Given the description of an element on the screen output the (x, y) to click on. 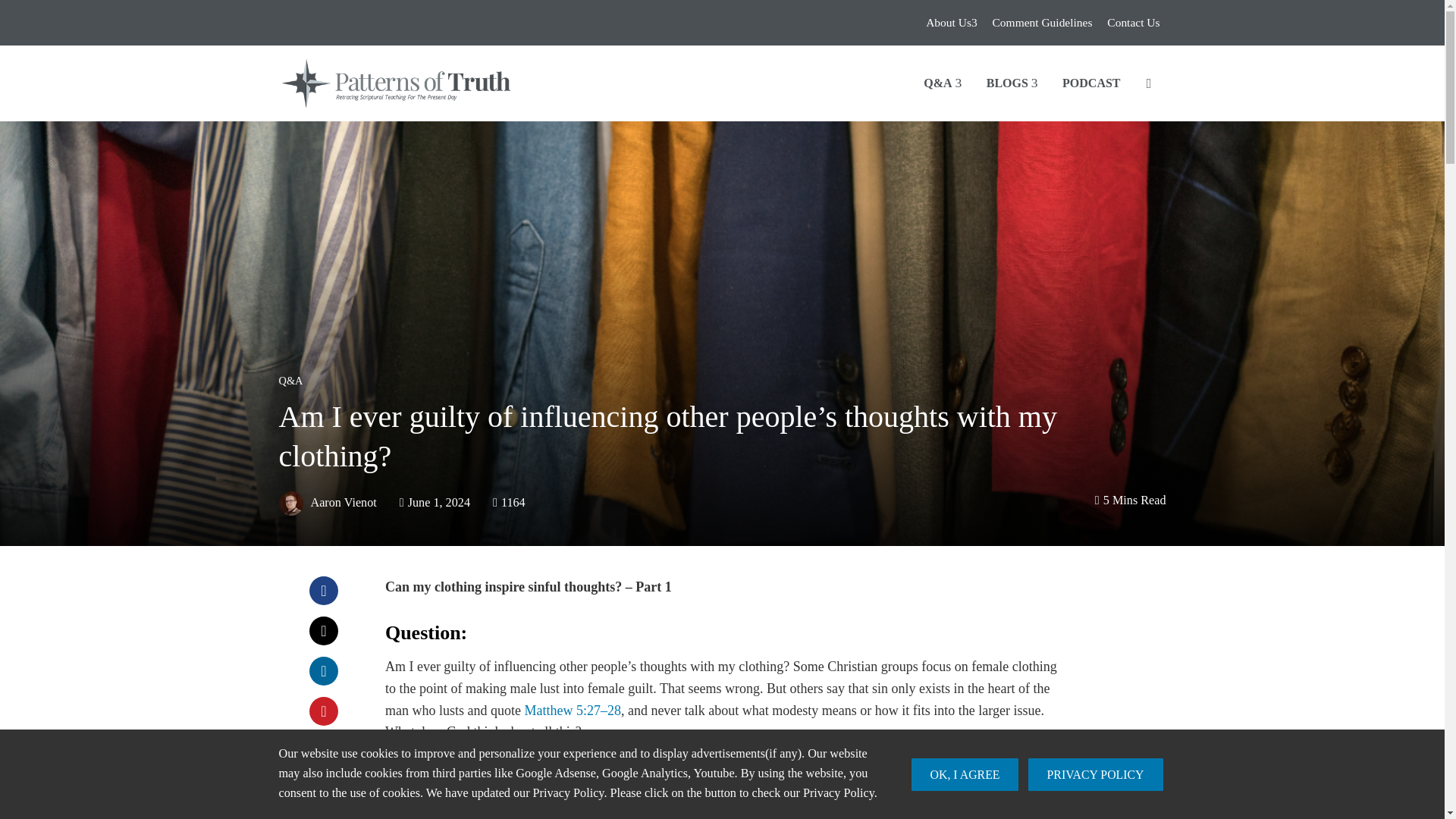
OK, I AGREE (965, 774)
Contact Us (1132, 22)
Comment Guidelines (1042, 22)
PRIVACY POLICY (1095, 774)
Email (322, 791)
PODCAST (1089, 83)
BLOGS (1007, 83)
Pinterest (322, 710)
Twitter (322, 630)
About Us (951, 22)
